Given the description of an element on the screen output the (x, y) to click on. 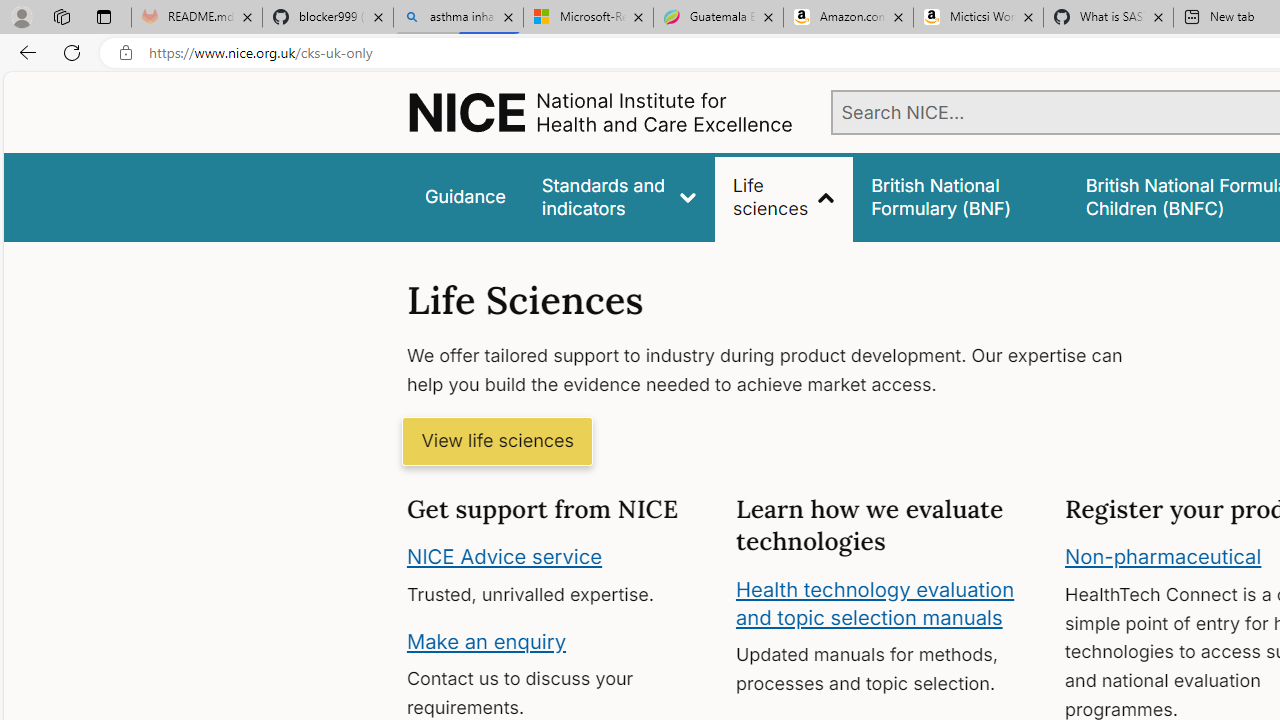
Home (599, 112)
Health technology evaluation and topic selection manuals (874, 603)
false (959, 196)
View life sciences (497, 441)
